Given the description of an element on the screen output the (x, y) to click on. 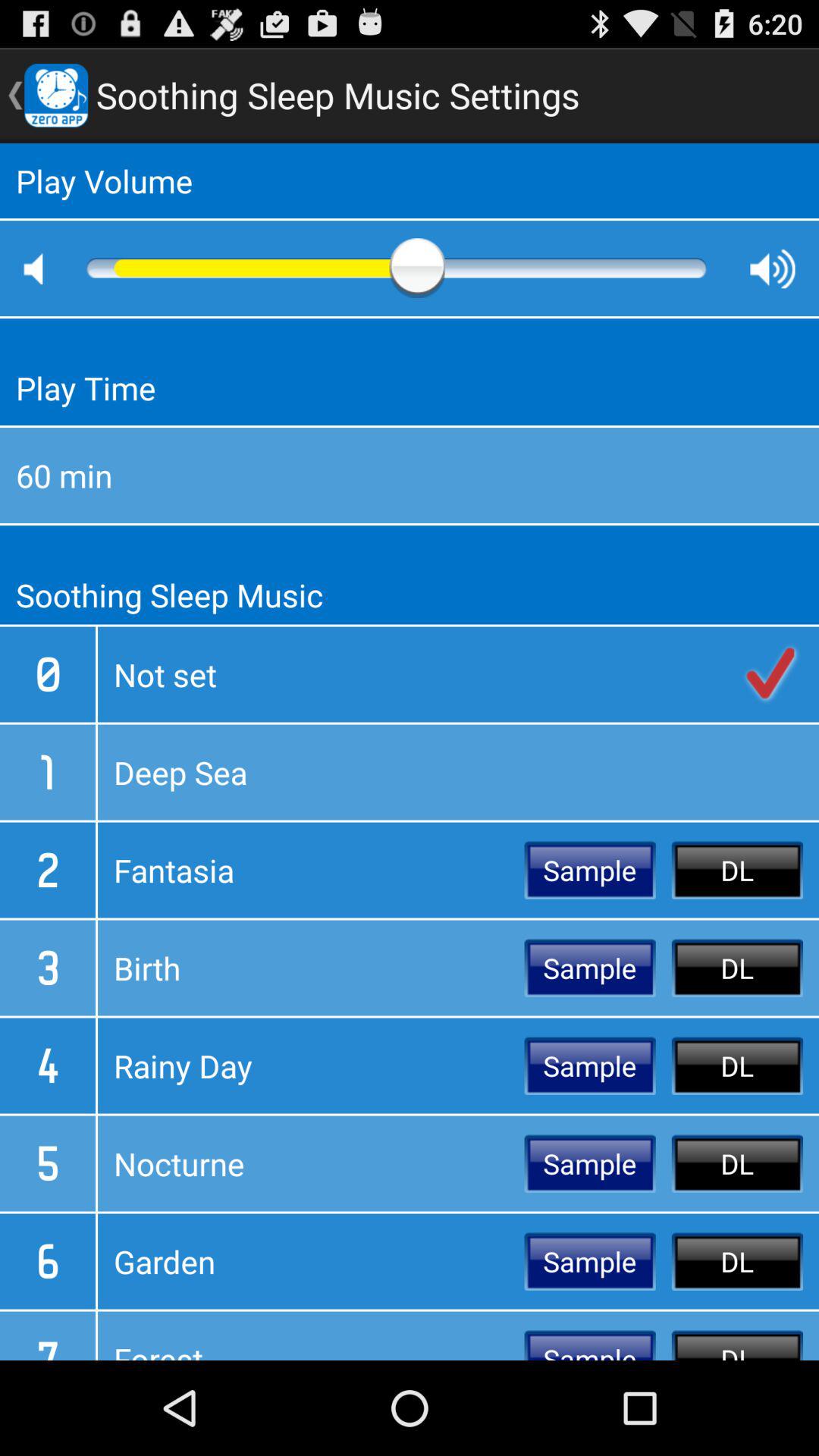
click item to the left of sample icon (310, 967)
